Given the description of an element on the screen output the (x, y) to click on. 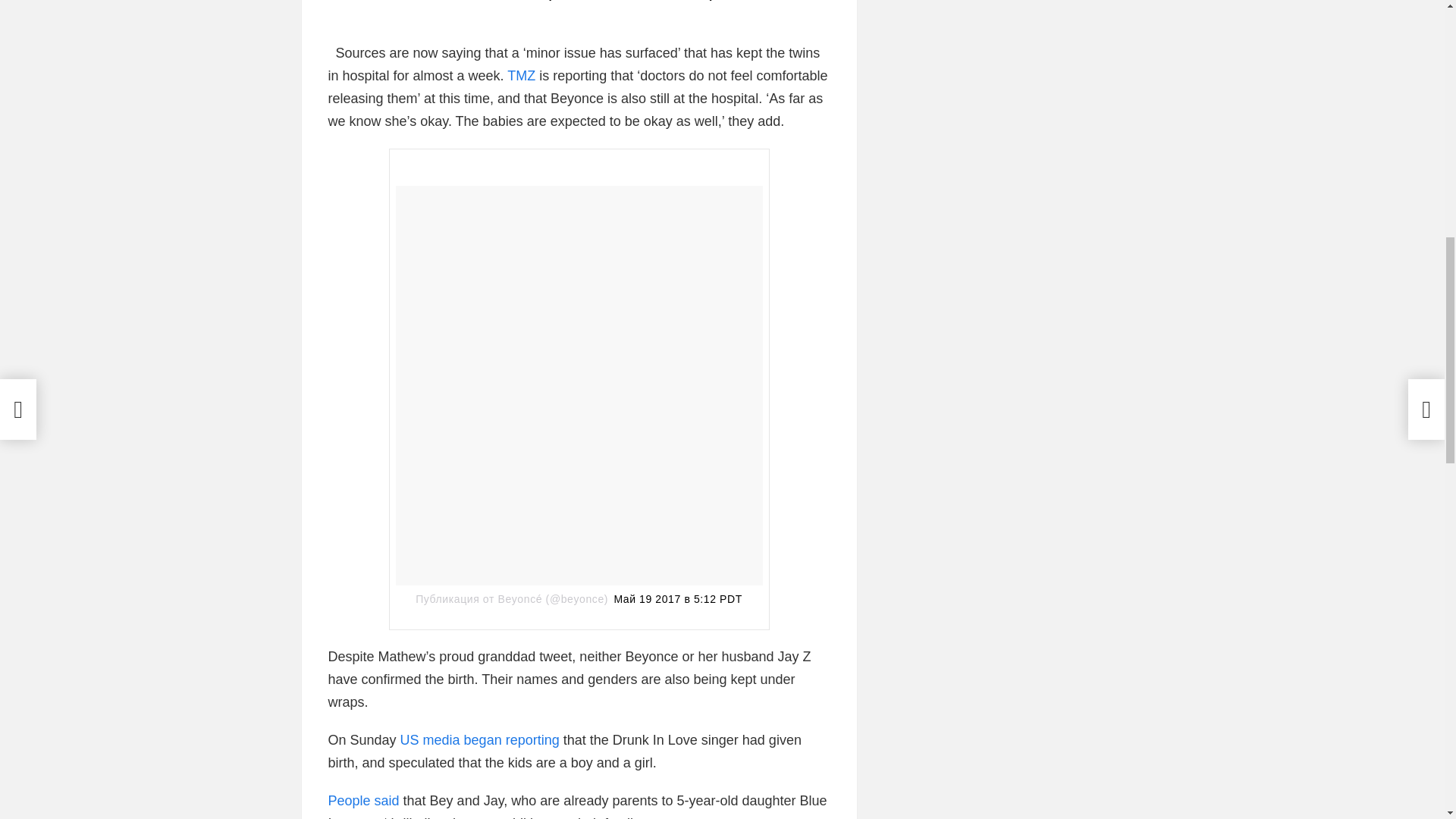
TMZ (520, 75)
US media began reporting  (481, 739)
